Given the description of an element on the screen output the (x, y) to click on. 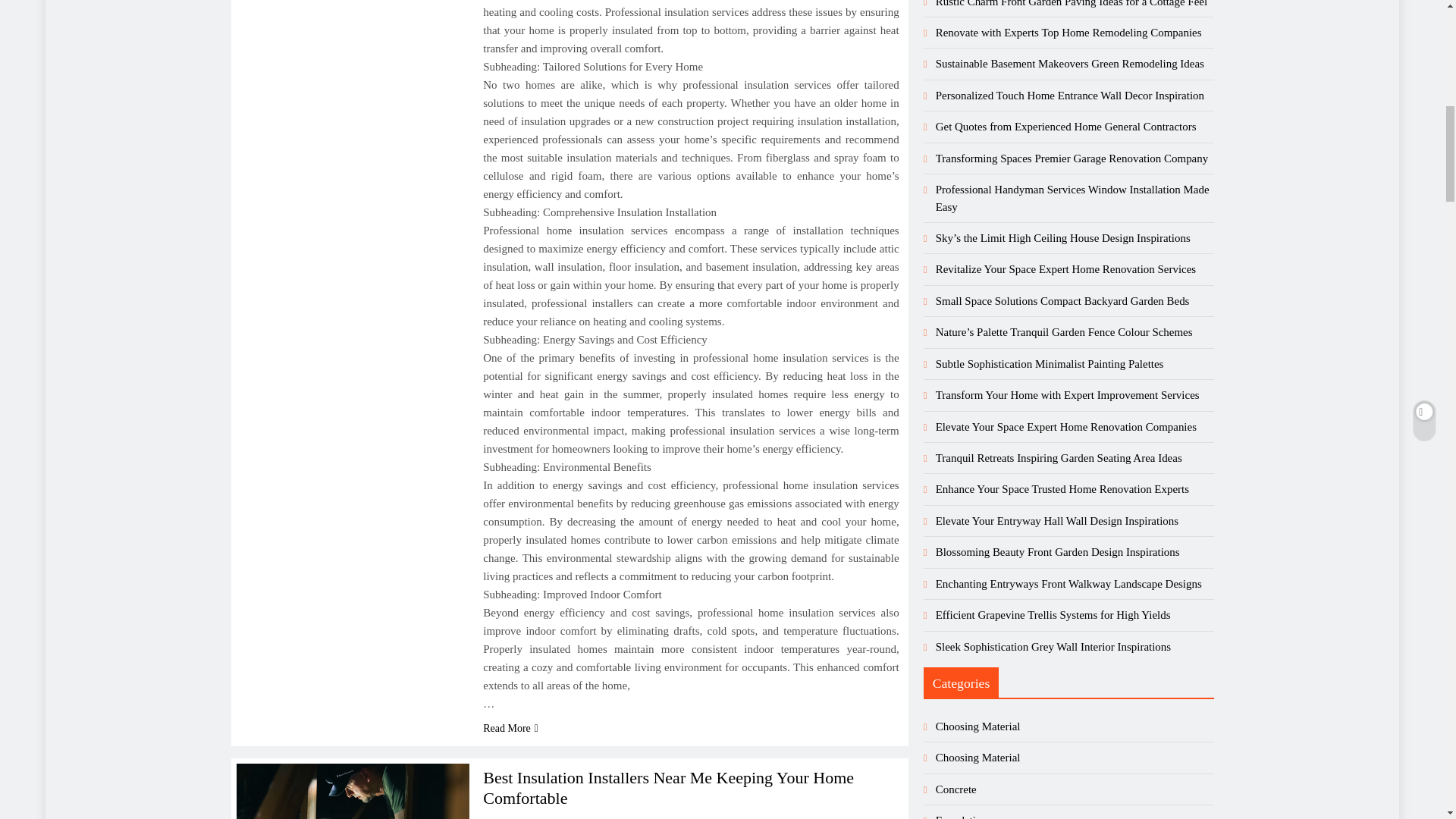
Read More (510, 728)
